Given the description of an element on the screen output the (x, y) to click on. 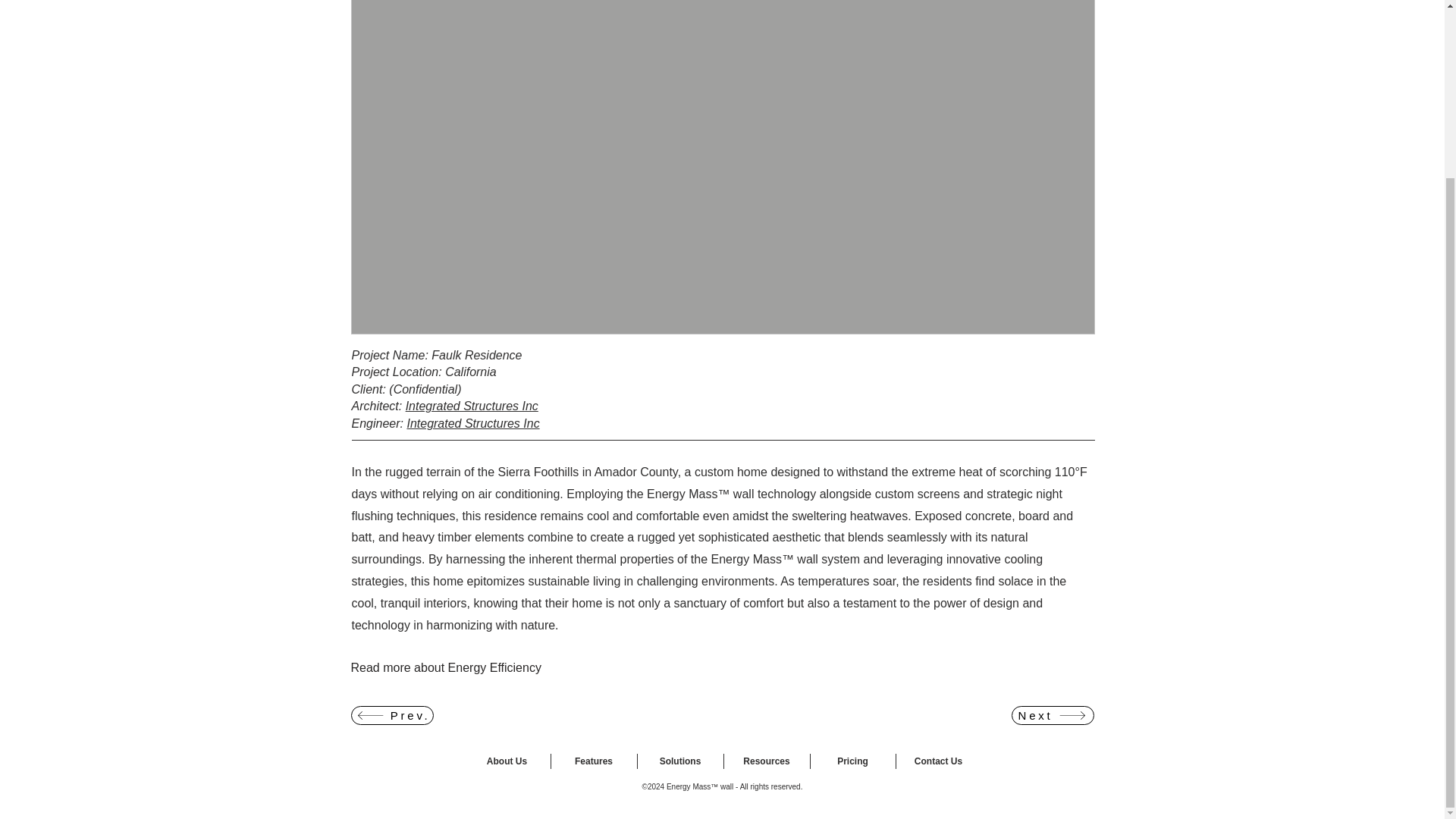
About Us (507, 761)
Solutions (680, 761)
Contact Us (937, 761)
Features (593, 761)
Next (1052, 714)
Pricing (852, 761)
Read more about Energy Efficiency (460, 667)
Integrated Structures Inc (472, 405)
Integrated Structures Inc (472, 422)
Prev. (391, 714)
